Given the description of an element on the screen output the (x, y) to click on. 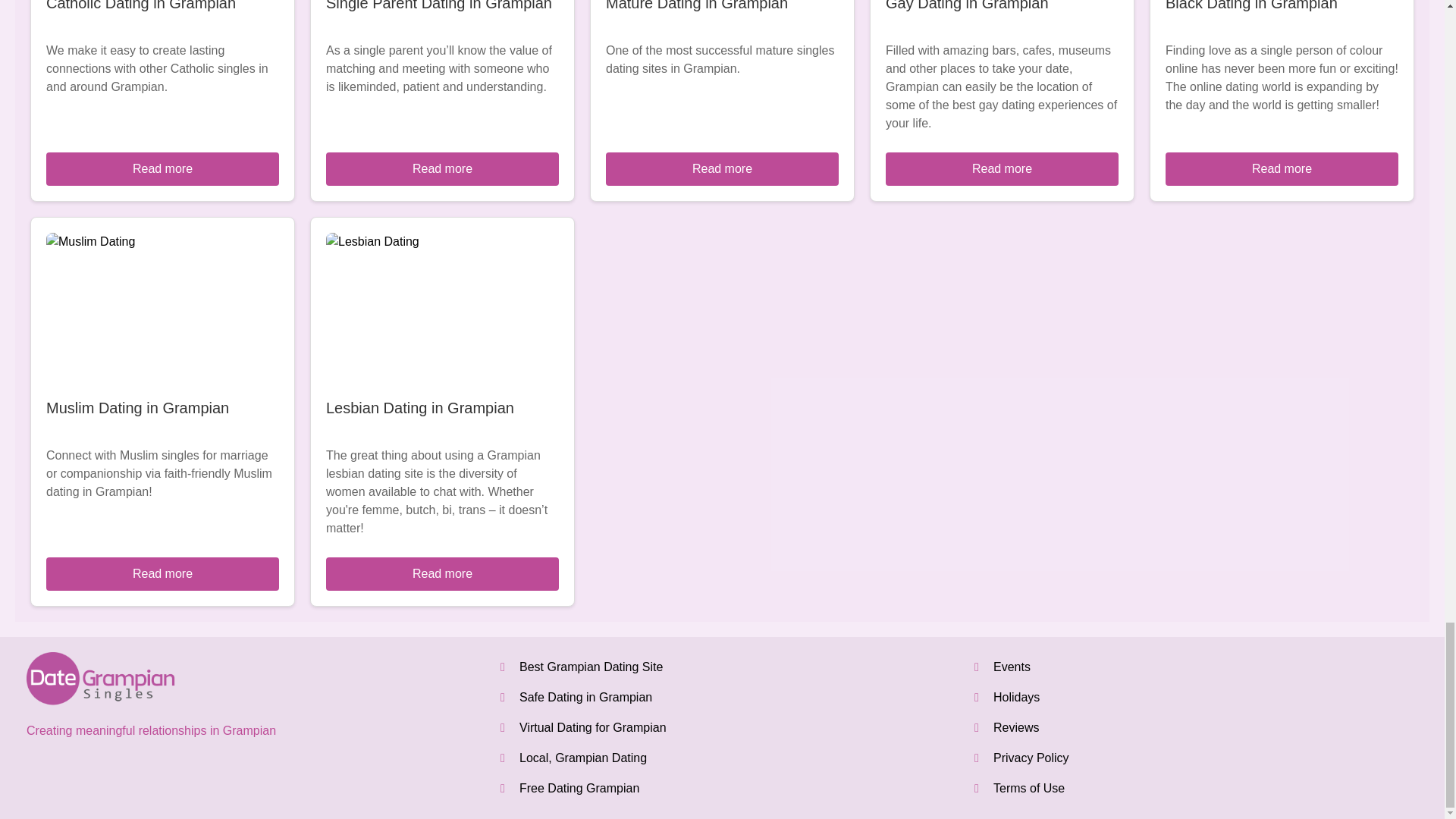
Read more (162, 573)
Best Grampian Dating Site (590, 666)
Read more (442, 168)
Reviews (1015, 727)
Read more (1281, 168)
Holidays (1015, 697)
Read more (721, 168)
Read more (1001, 168)
Safe Dating in Grampian (585, 697)
Virtual Dating for Grampian (592, 727)
Events (1011, 666)
Terms of Use (1028, 788)
Privacy Policy (1030, 757)
Free Dating Grampian (579, 788)
Read more (162, 168)
